Given the description of an element on the screen output the (x, y) to click on. 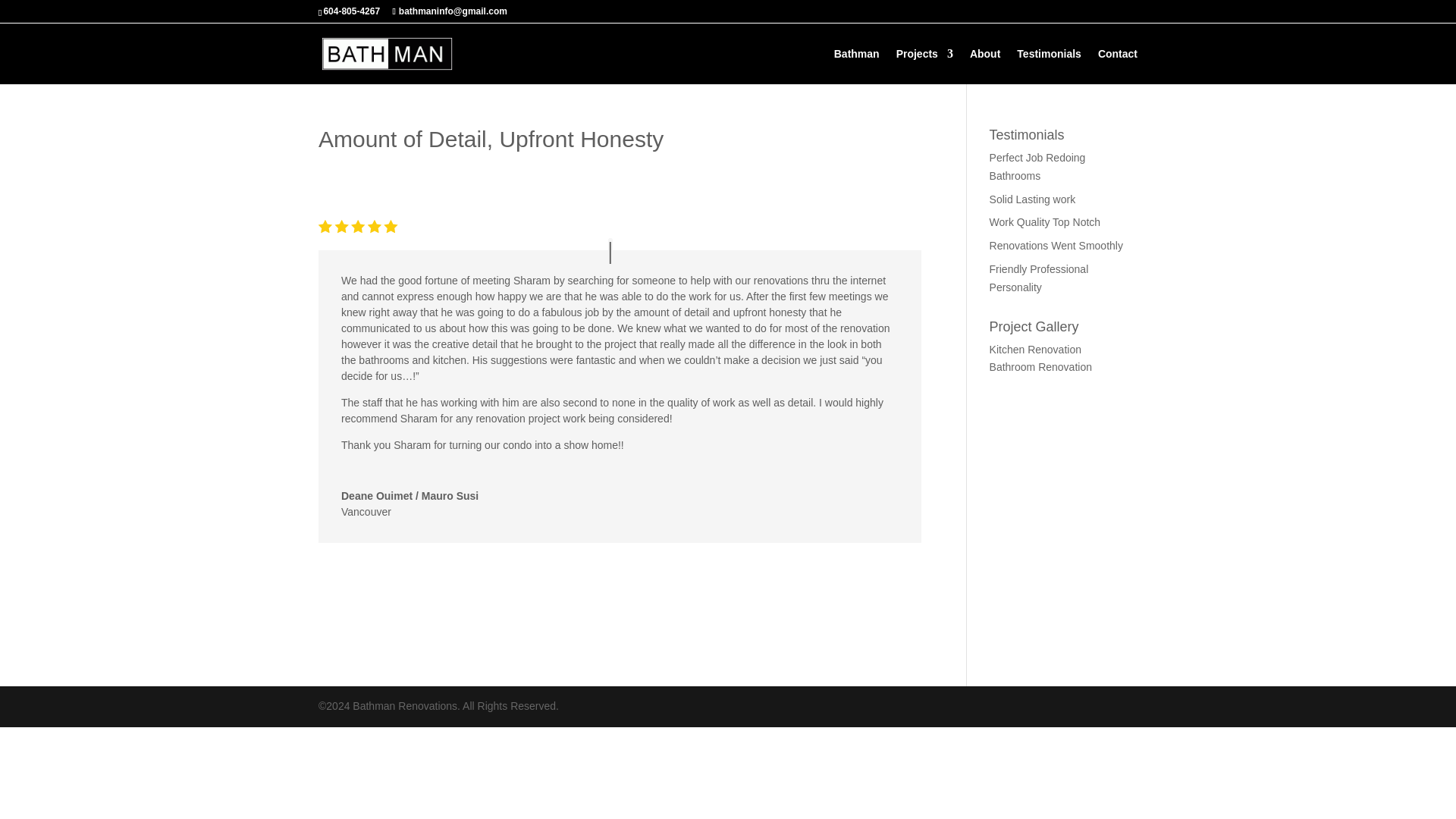
Renovations Went Smoothly (1056, 245)
Perfect Job Redoing Bathrooms (1038, 166)
Projects (924, 66)
Work Quality Top Notch (1045, 222)
Testimonials (1048, 66)
Friendly Professional Personality (1039, 277)
Bathman (856, 66)
Contact (1117, 66)
Bathroom Renovation (1041, 367)
Kitchen Renovation (1035, 349)
